Given the description of an element on the screen output the (x, y) to click on. 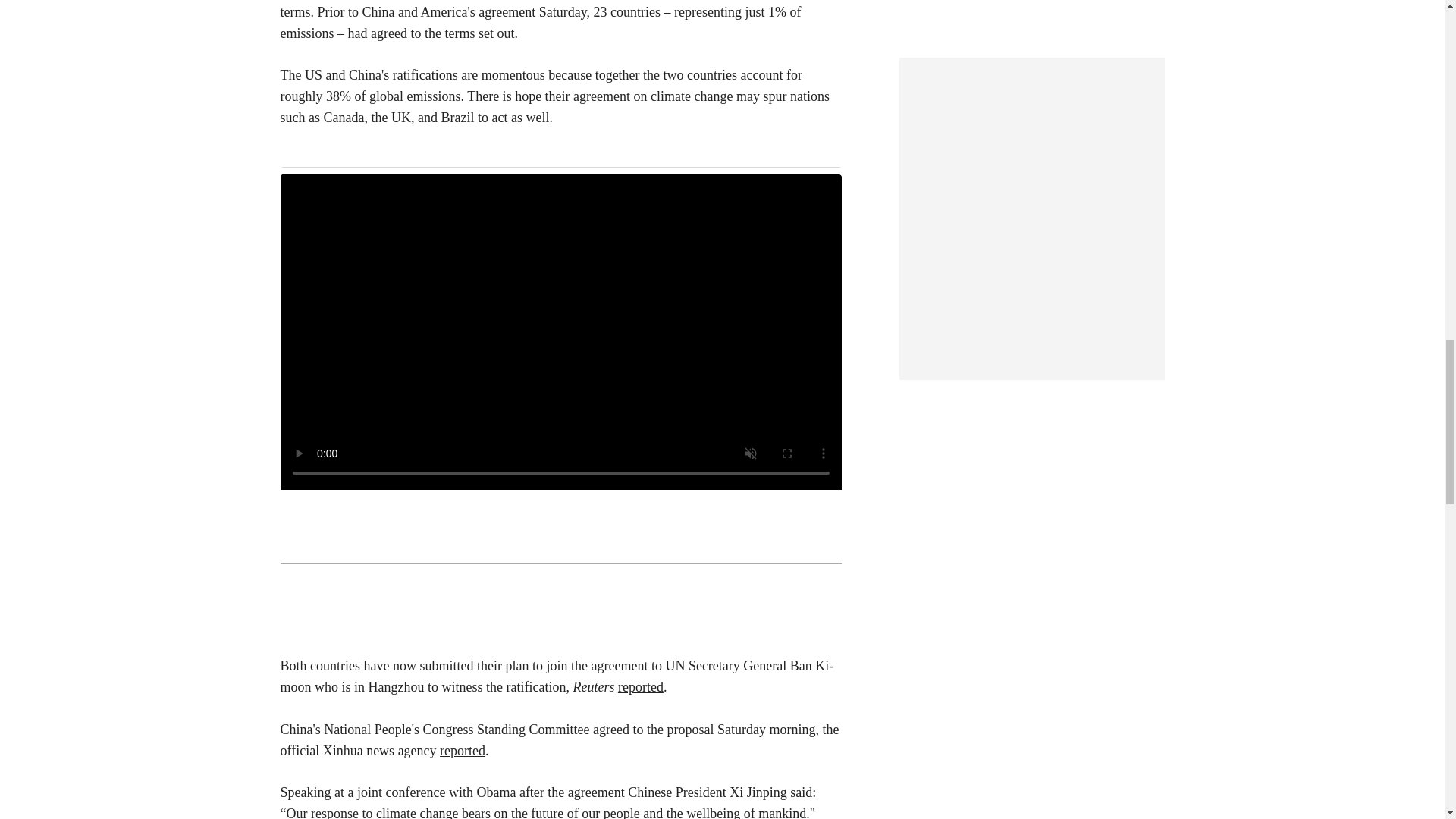
reported (640, 686)
reported (461, 750)
